Given the description of an element on the screen output the (x, y) to click on. 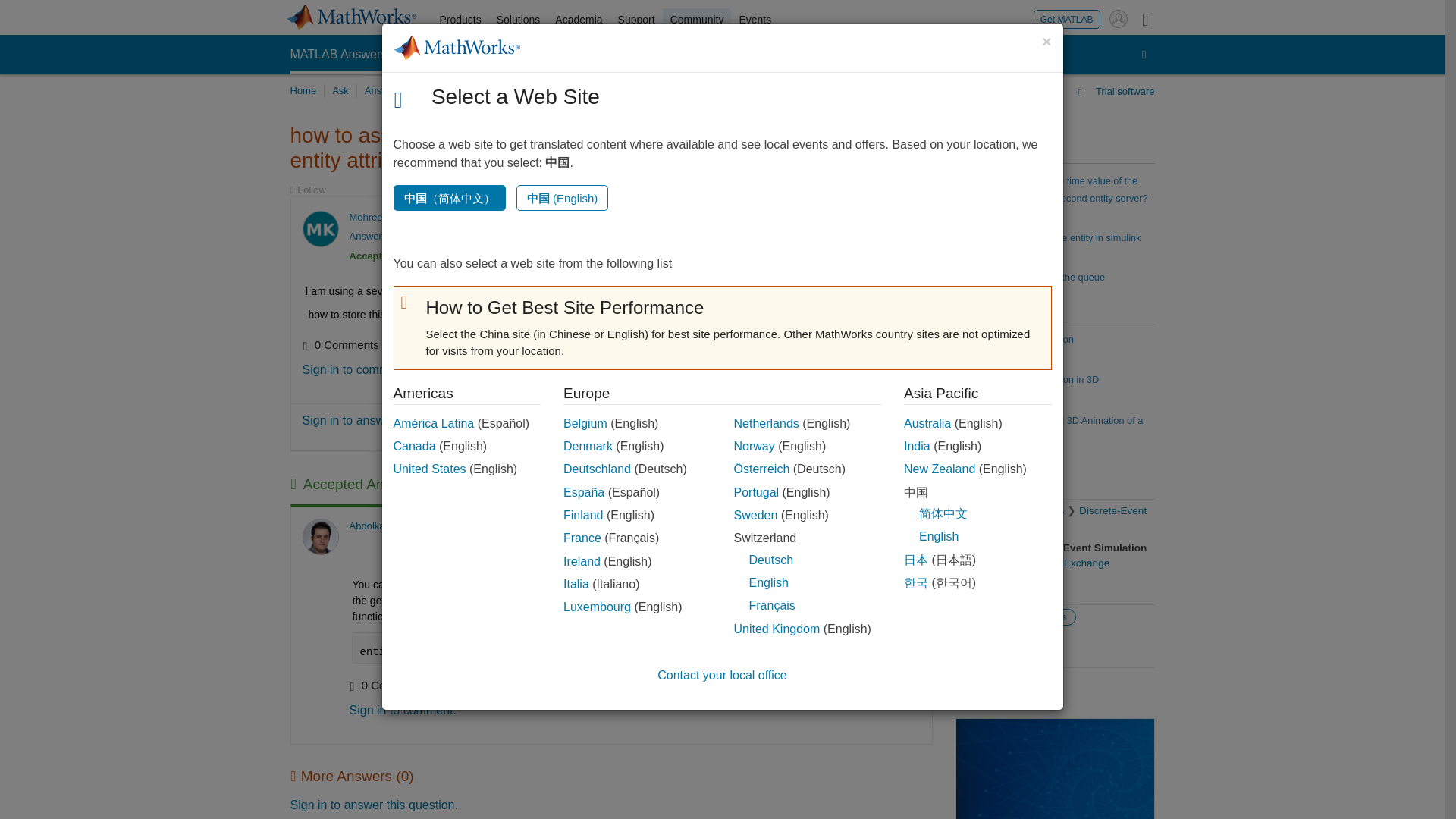
Sign in to vote for questions and answers (855, 525)
Sign in to follow activity (306, 189)
Sign In to Your MathWorks Account (1117, 18)
Community (697, 19)
Sign in to vote for questions and answers (855, 217)
Events (754, 19)
Direct link to this question (906, 216)
Direct link to this answer (906, 525)
Products (460, 19)
Get MATLAB (1066, 18)
Solutions (518, 19)
Academia (578, 19)
Support (636, 19)
